Given the description of an element on the screen output the (x, y) to click on. 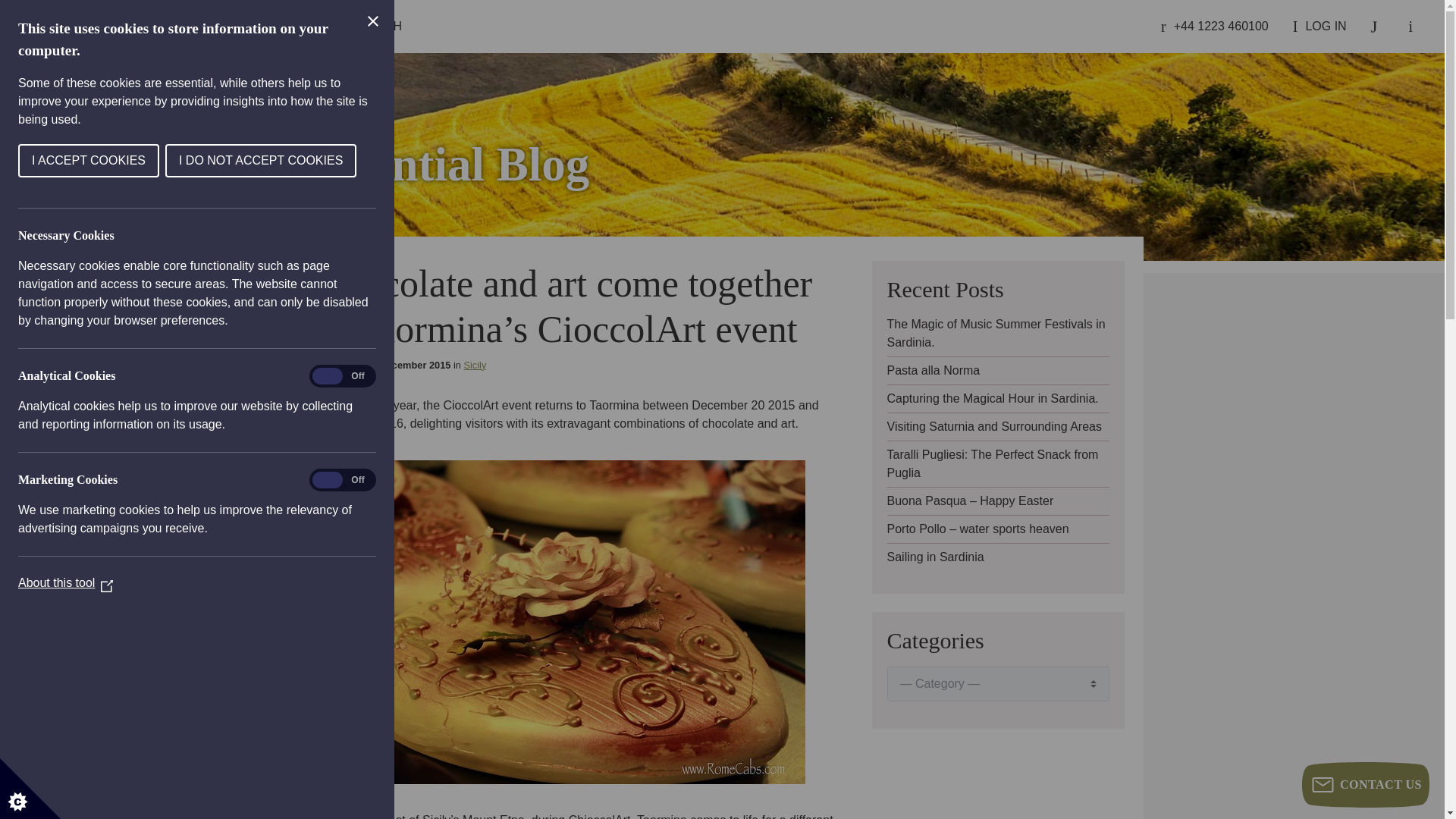
SEARCH (369, 26)
I DO NOT ACCEPT COOKIES (94, 160)
REGIONS (247, 26)
LOG IN (1319, 26)
